Given the description of an element on the screen output the (x, y) to click on. 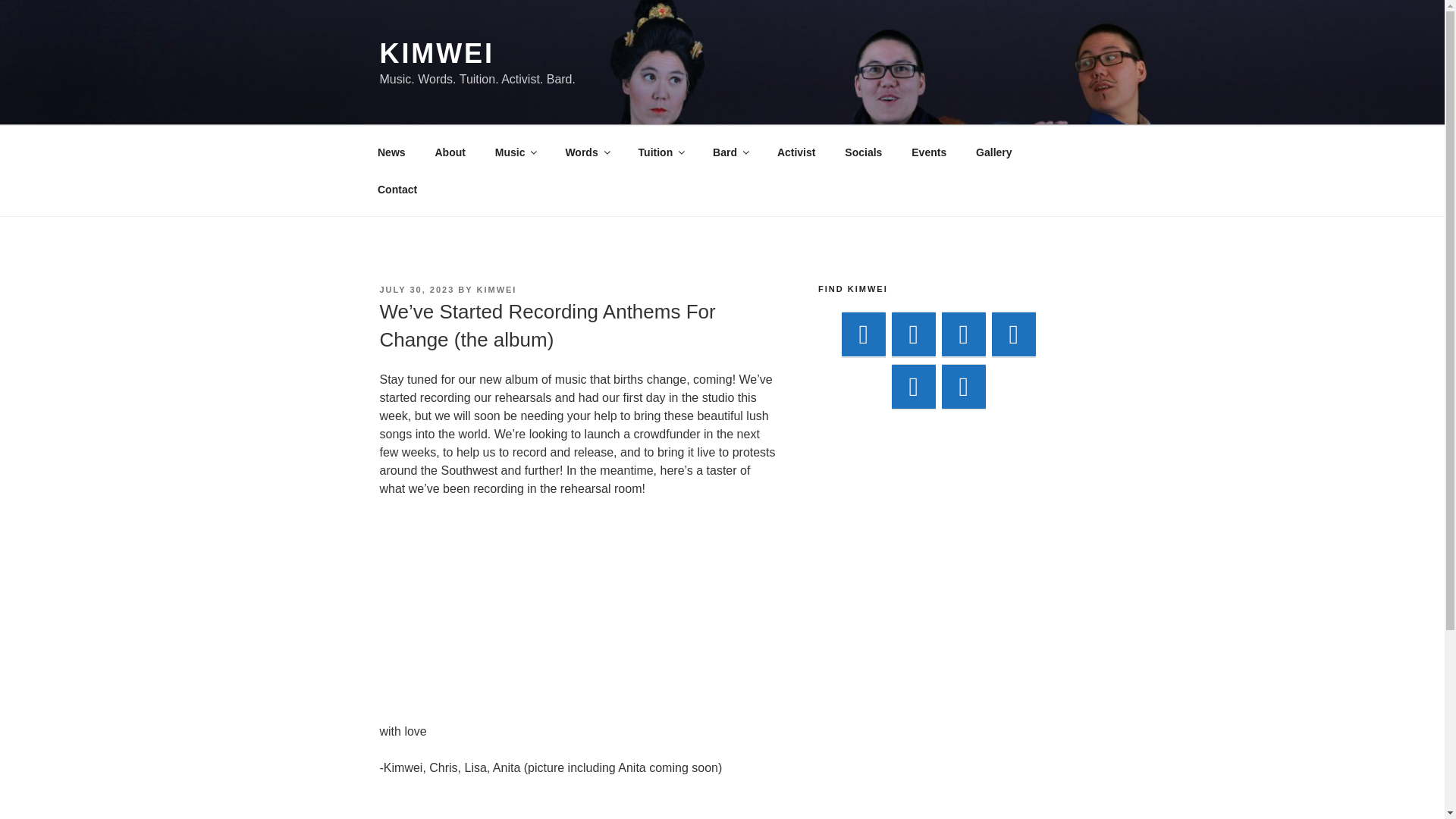
Words (586, 151)
WordPress (1013, 334)
Activist (795, 151)
Instagram (913, 386)
Gallery (993, 151)
JULY 30, 2023 (416, 289)
KIMWEI (435, 52)
Contact (396, 189)
Bard (730, 151)
Twitter (963, 386)
YouTube (963, 334)
Socials (863, 151)
News (391, 151)
Facebook (913, 334)
KIMWEI (496, 289)
